Given the description of an element on the screen output the (x, y) to click on. 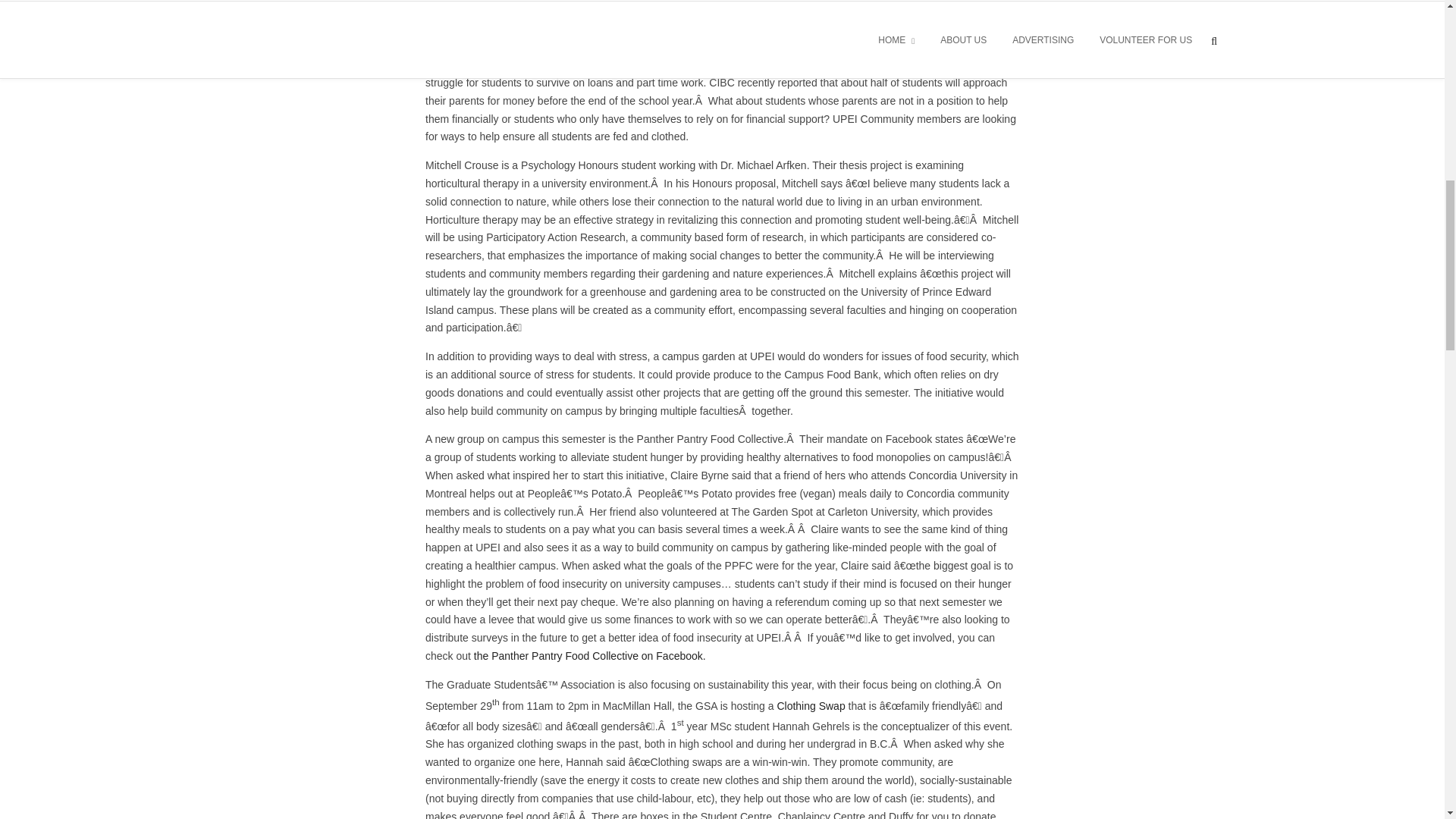
the Panther Pantry Food Collective on Facebook. (588, 655)
Clothing Swap (811, 705)
